Given the description of an element on the screen output the (x, y) to click on. 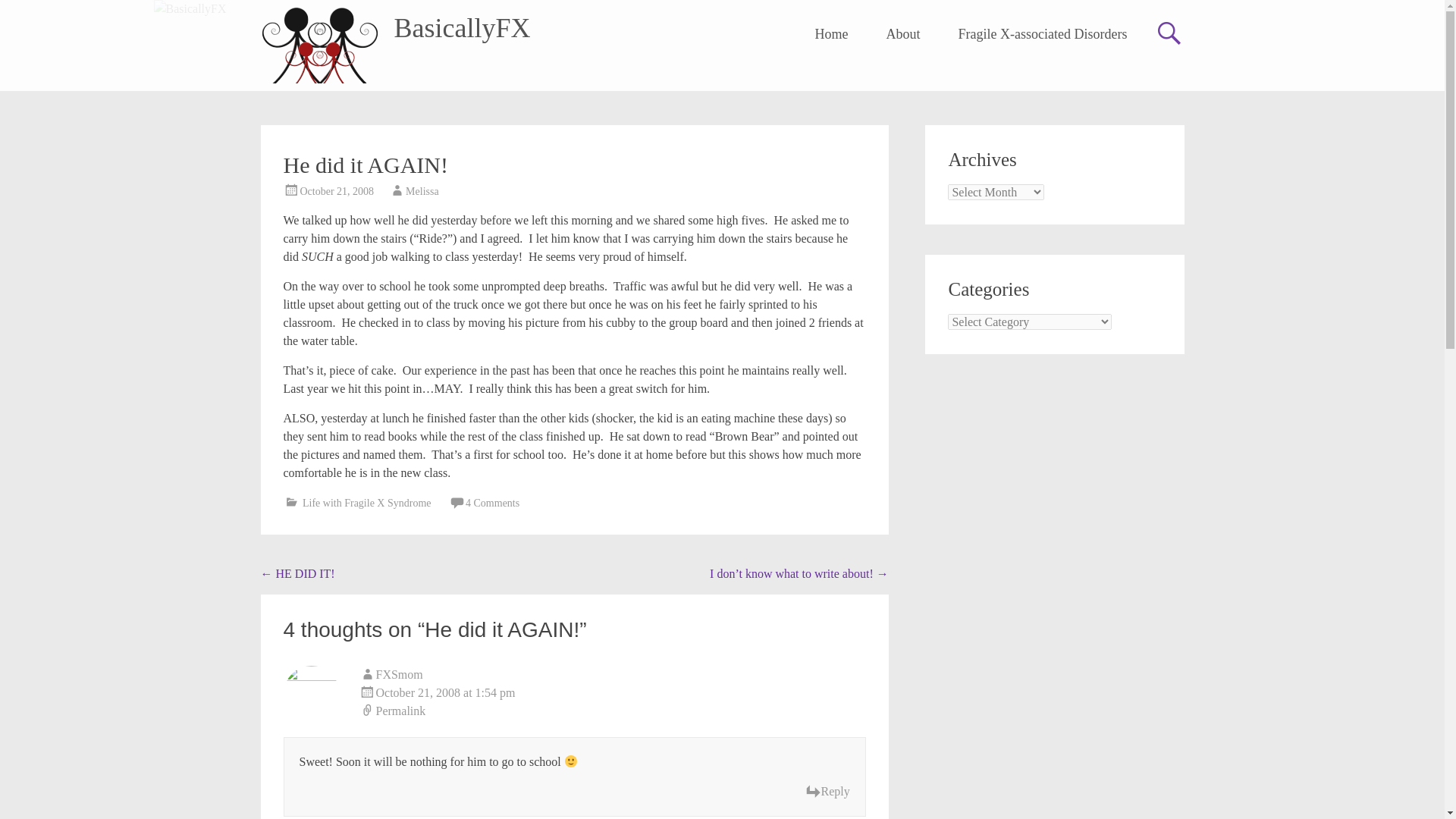
Home (831, 33)
FXSmom (399, 674)
BasicallyFX (462, 28)
BasicallyFX (462, 28)
Melissa (422, 191)
Fragile X-associated Disorders (1043, 33)
About (903, 33)
Permalink (612, 710)
Life with Fragile X Syndrome (366, 502)
Reply (827, 791)
4 Comments (492, 502)
October 21, 2008 (336, 191)
